Given the description of an element on the screen output the (x, y) to click on. 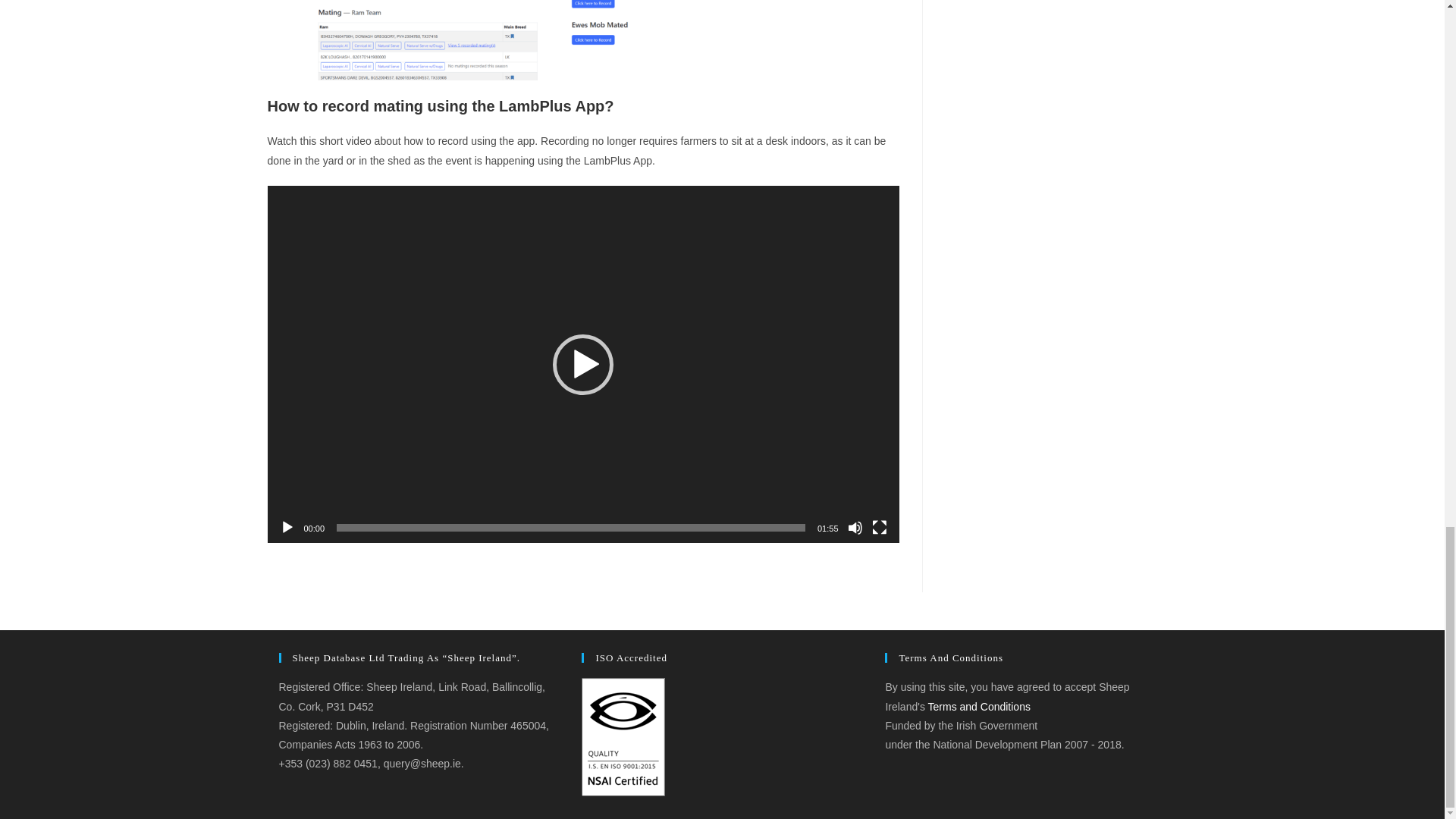
Mute (855, 527)
Play (286, 527)
Fullscreen (879, 527)
